Given the description of an element on the screen output the (x, y) to click on. 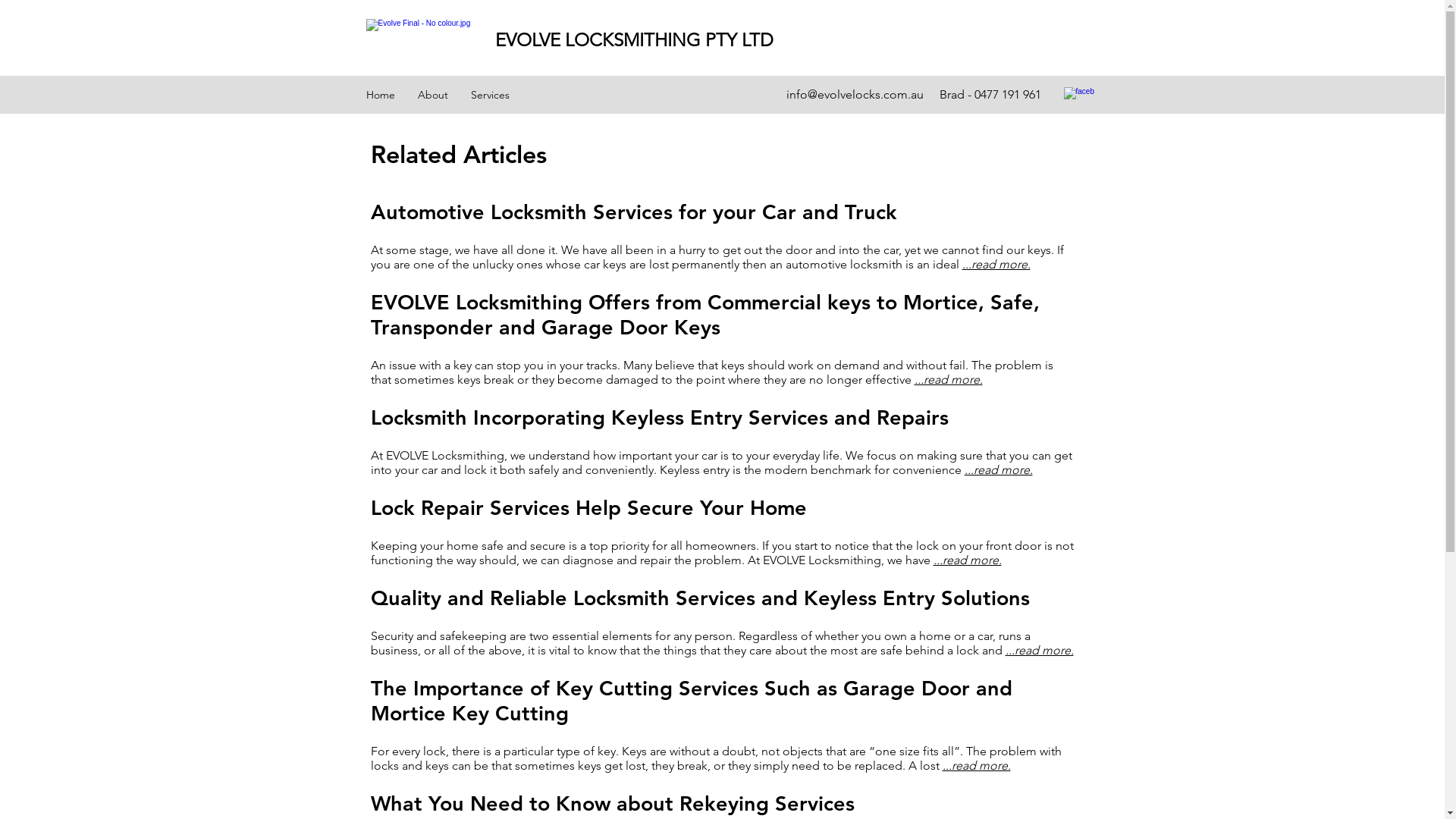
...read more. Element type: text (998, 469)
...read more. Element type: text (1039, 650)
...read more. Element type: text (975, 765)
Home Element type: text (380, 94)
About Element type: text (432, 94)
info@evolvelocks.com.au Element type: text (853, 94)
...read more. Element type: text (995, 264)
Services Element type: text (489, 94)
...read more. Element type: text (948, 379)
...read more. Element type: text (966, 559)
